Given the description of an element on the screen output the (x, y) to click on. 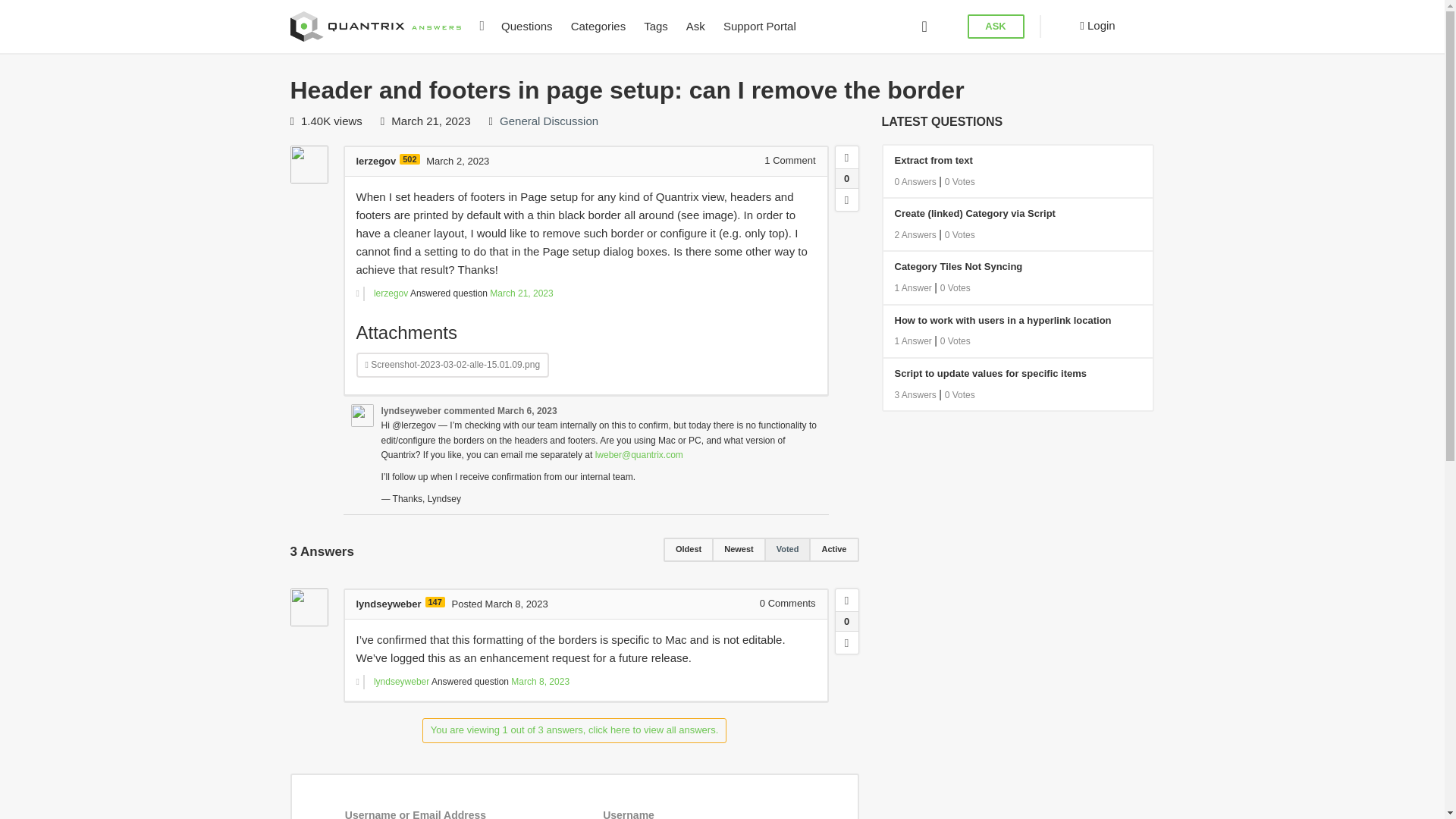
Support Portal (759, 26)
Questions (527, 26)
Down vote this post (847, 641)
Ask (695, 26)
Support Portal (759, 26)
Download file (453, 364)
Tags (655, 26)
Categories (598, 26)
Ask (695, 26)
Reputation (434, 602)
Questions (527, 26)
Tags (655, 26)
Down vote this post (847, 199)
Quantrix Answers (380, 24)
Reputation (408, 158)
